Given the description of an element on the screen output the (x, y) to click on. 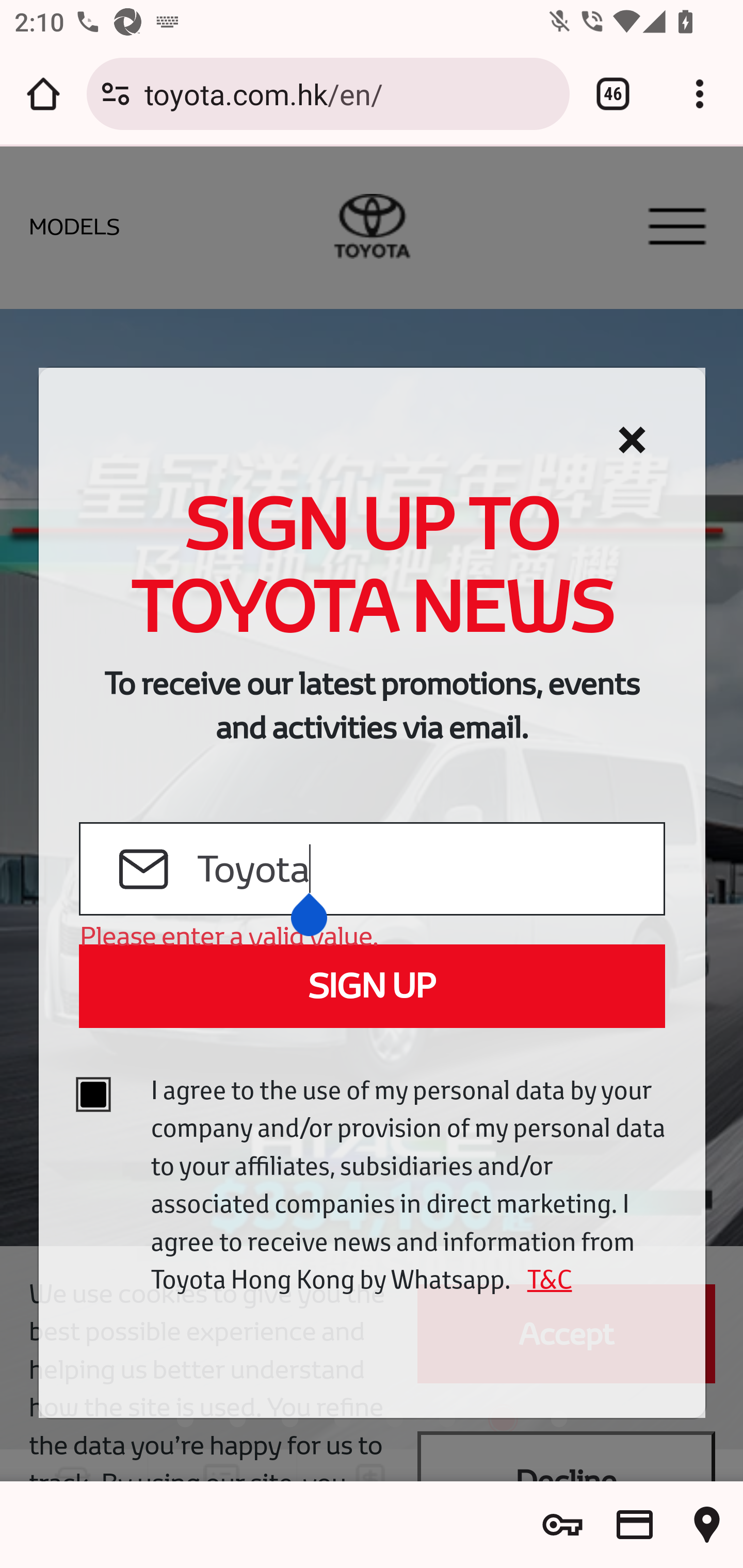
Open the home page (43, 93)
Connection is secure (115, 93)
Switch or close tabs (612, 93)
Customize and control Google Chrome (699, 93)
toyota.com.hk/en/ (349, 92)
Cerrar (631, 440)
Toyota (429, 869)
SIGN UP (371, 985)
T&C (543, 1279)
Show saved passwords and password options (562, 1524)
Show saved payment methods (634, 1524)
Show saved addresses (706, 1524)
